Given the description of an element on the screen output the (x, y) to click on. 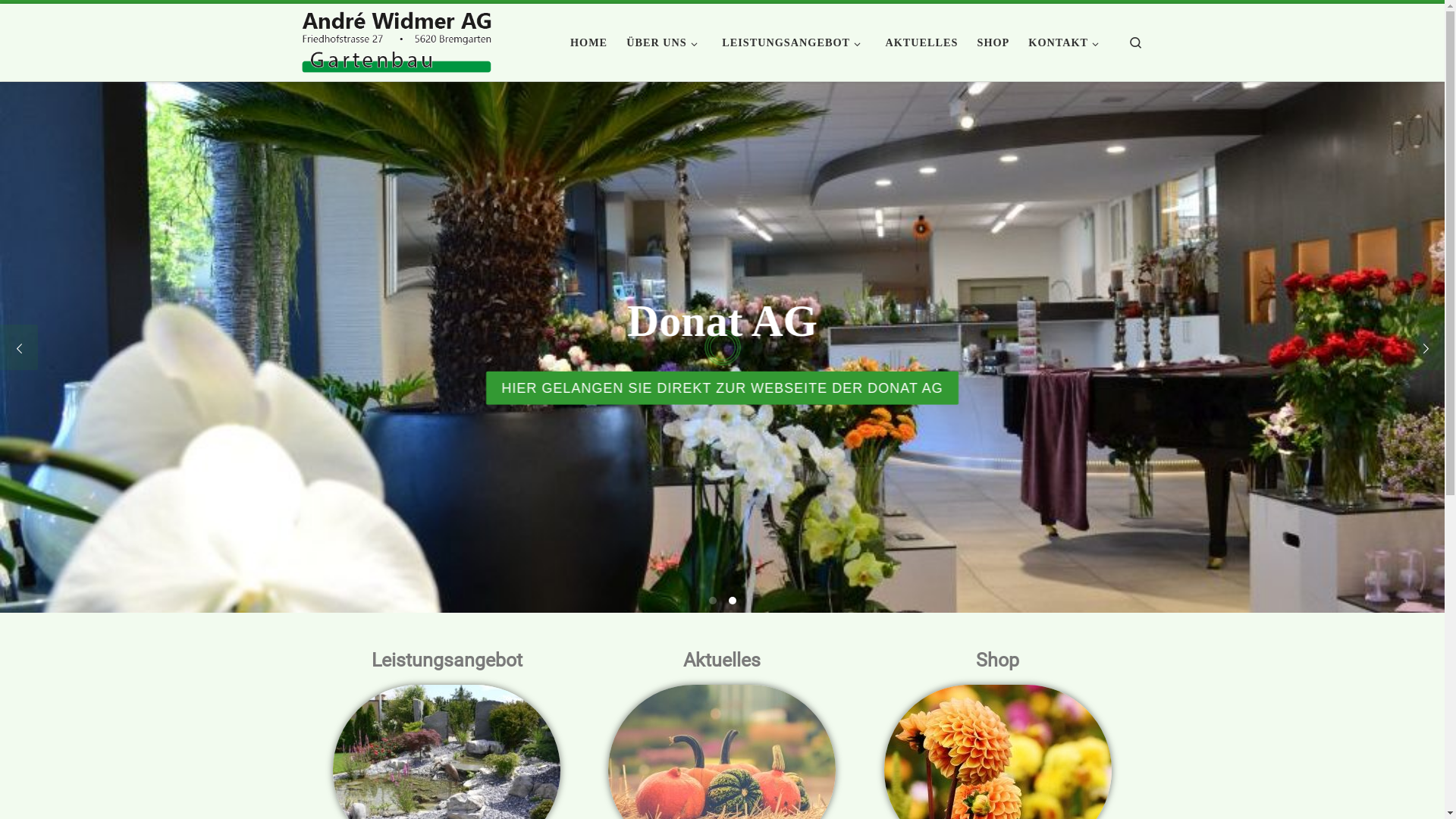
Search Element type: text (1135, 41)
AKTUELLES Element type: text (921, 42)
HIER GELANGEN SIE DIREKT ZUR WEBSEITE DER DONAT AG Element type: text (721, 387)
HOME Element type: text (588, 42)
LEISTUNGSANGEBOT Element type: text (794, 42)
KONTAKT Element type: text (1066, 42)
SHOP Element type: text (992, 42)
Zum Inhalt springen Element type: text (70, 20)
